Given the description of an element on the screen output the (x, y) to click on. 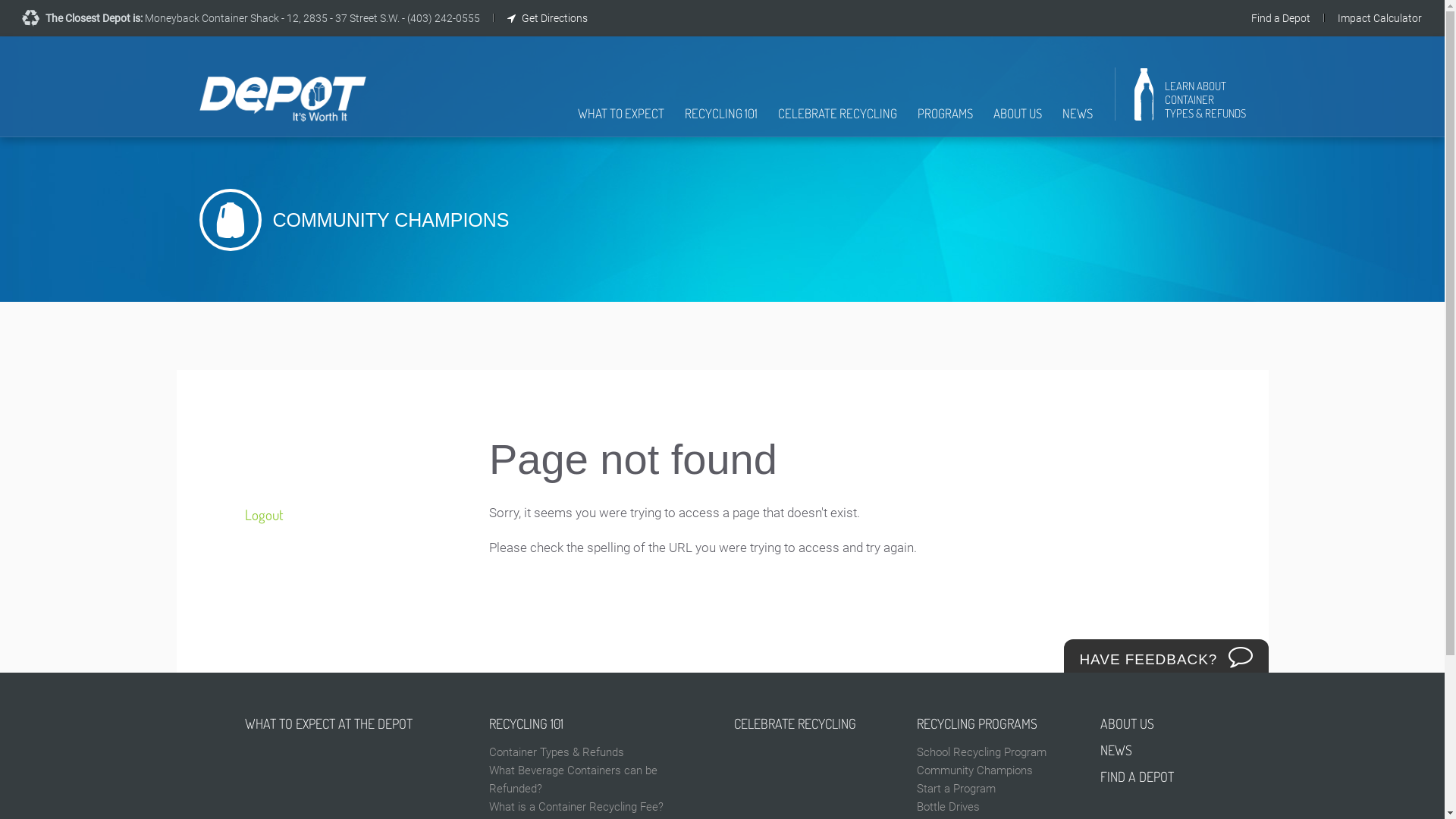
CELEBRATE RECYCLING Element type: text (837, 121)
WHAT TO EXPECT AT THE DEPOT Element type: text (355, 723)
PROGRAMS Element type: text (944, 121)
RECYCLING PROGRAMS Element type: text (996, 723)
School Recycling Program Element type: text (996, 752)
RECYCLING 101 Element type: text (720, 121)
NEWS Element type: text (1076, 121)
Bottle Drives Element type: text (996, 806)
CELEBRATE RECYCLING Element type: text (814, 723)
Logout Element type: text (344, 515)
WHAT TO EXPECT Element type: text (620, 121)
Community Champions Element type: text (996, 770)
Impact Calculator Element type: text (1379, 18)
RECYCLING 101 Element type: text (600, 723)
Get Directions Element type: text (547, 18)
ABOUT US Element type: text (1149, 723)
ABOUT US Element type: text (1017, 121)
FIND A DEPOT Element type: text (1149, 776)
COMMUNITY CHAMPIONS Element type: text (721, 219)
Container Types & Refunds Element type: text (600, 752)
NEWS Element type: text (1149, 750)
What is a Container Recycling Fee? Element type: text (600, 806)
Find a Depot Element type: text (1280, 18)
Start a Program Element type: text (996, 788)
What Beverage Containers can be Refunded? Element type: text (600, 779)
LEARN ABOUT
CONTAINER
TYPES & REFUNDS Element type: text (1189, 99)
